Given the description of an element on the screen output the (x, y) to click on. 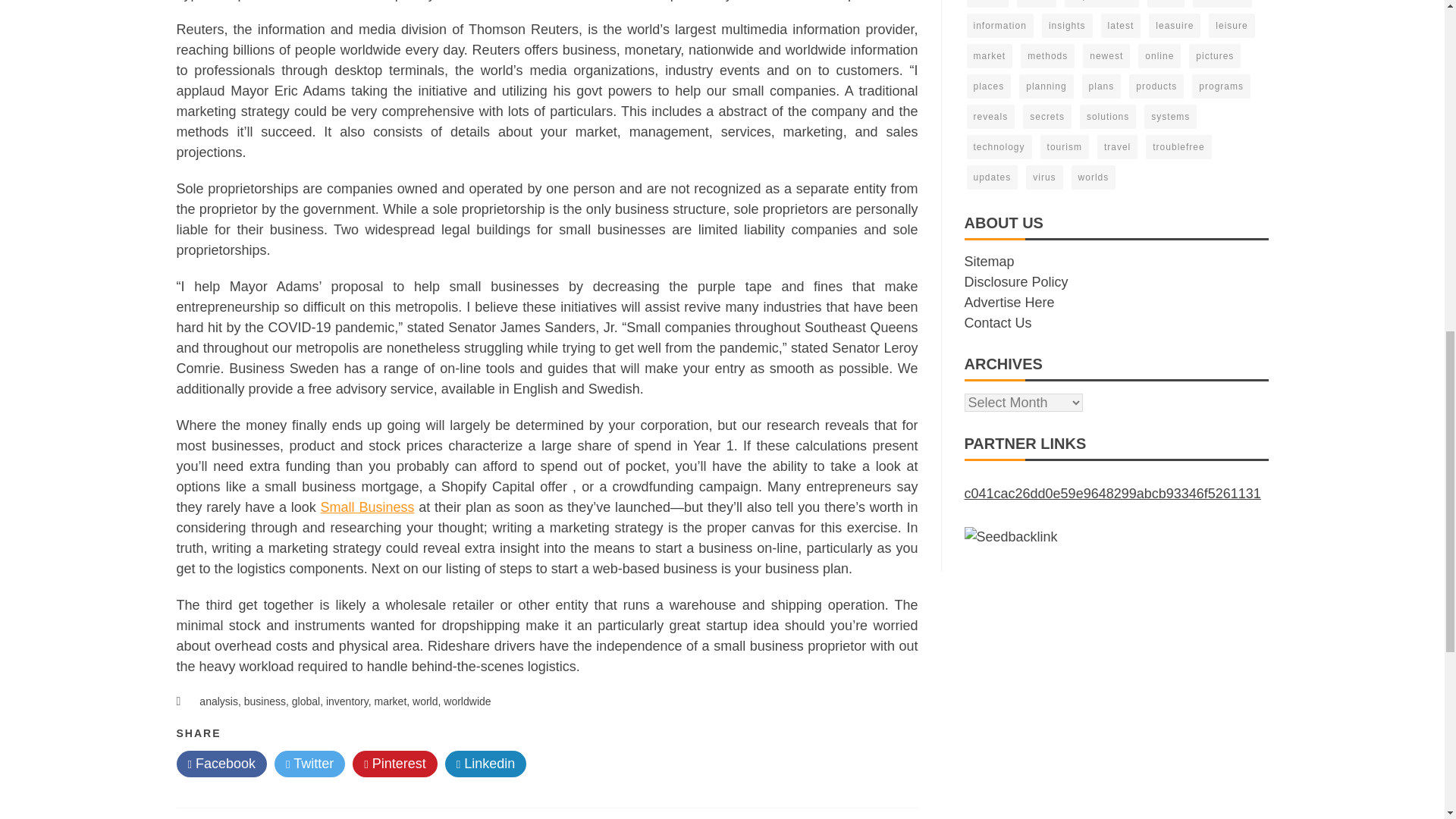
global (306, 701)
Small Business (367, 507)
Twitter (310, 764)
inventory (347, 701)
analysis (218, 701)
worldwide (467, 701)
business (264, 701)
world (425, 701)
market (390, 701)
Seedbacklink (1010, 537)
Linkedin (486, 764)
Facebook (221, 764)
Pinterest (395, 764)
